Given the description of an element on the screen output the (x, y) to click on. 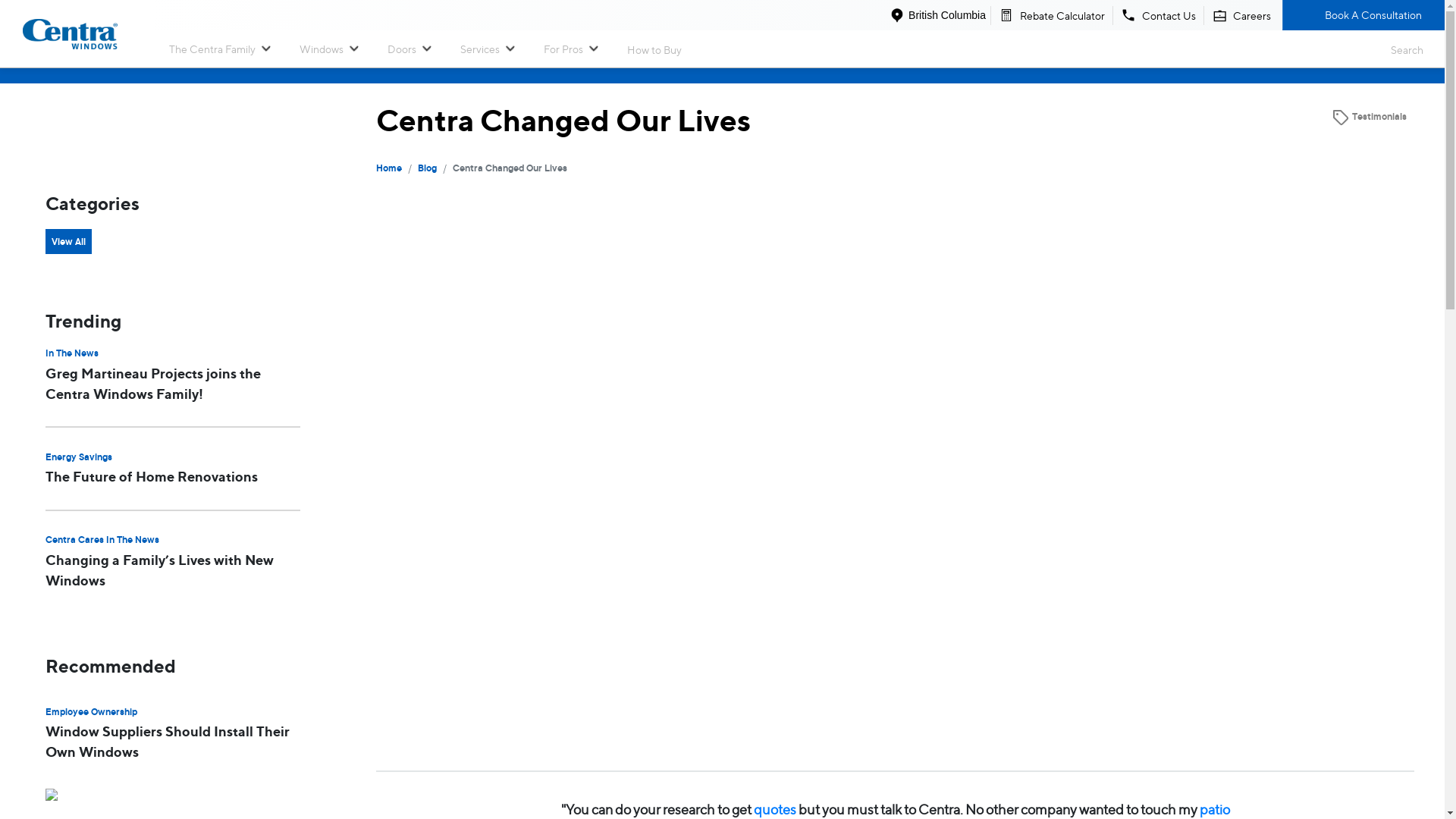
How to Buy (654, 49)
Rebate Calculator (1051, 15)
Careers (1243, 15)
Search (1399, 49)
Search (1399, 49)
For Pros (563, 48)
British Columbia (937, 14)
The Centra Family (212, 48)
Services (479, 48)
Windows (321, 48)
Contact Us (1158, 15)
Doors (401, 48)
How to Buy (655, 49)
